Given the description of an element on the screen output the (x, y) to click on. 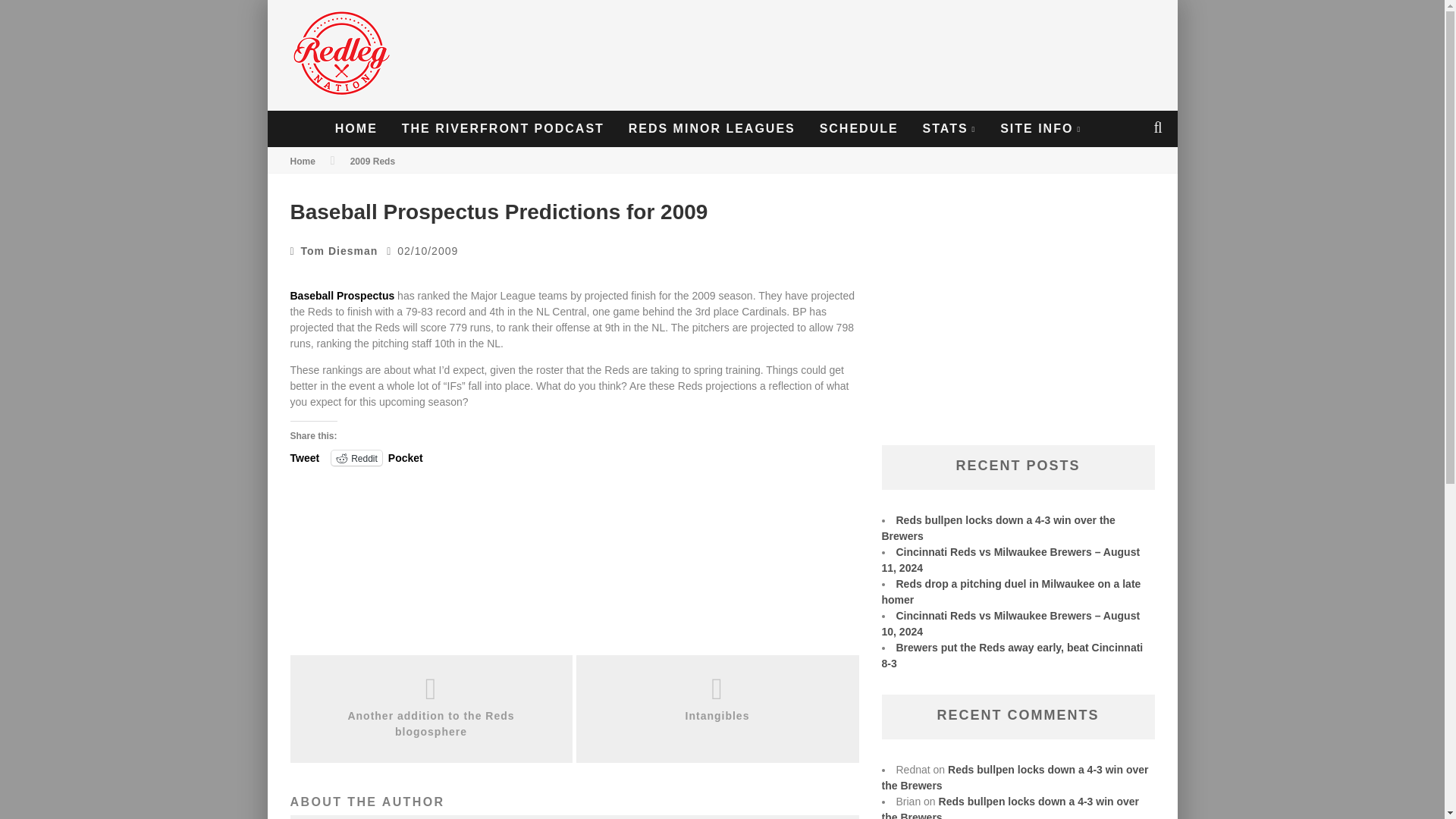
View all posts in 2009 Reds (372, 161)
STATS (949, 128)
Another addition to the Reds blogosphere (430, 724)
Tom Diesman (339, 250)
2009 Reds (372, 161)
HOME (355, 128)
Pocket (405, 458)
Baseball Prospectus (341, 295)
Click to share on Reddit (356, 458)
SCHEDULE (859, 128)
